Given the description of an element on the screen output the (x, y) to click on. 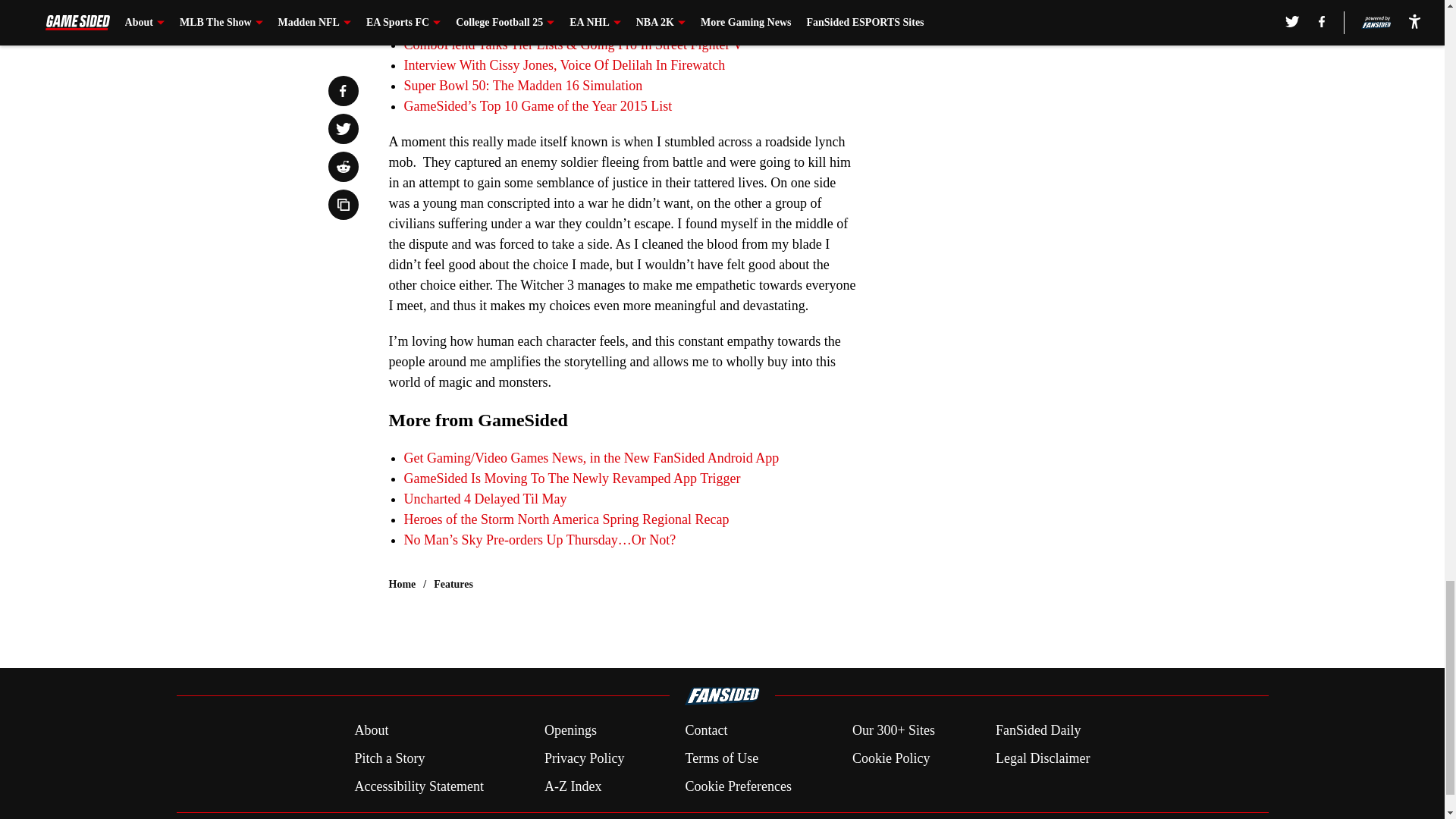
Home (401, 584)
GameSided Is Moving To The Newly Revamped App Trigger (571, 478)
Uncharted 4 Delayed Til May (484, 498)
Heroes of the Storm North America Spring Regional Recap (566, 519)
Super Bowl 50: The Madden 16 Simulation (522, 85)
About (370, 730)
Interview With Cissy Jones, Voice Of Delilah In Firewatch (564, 64)
Features (453, 584)
Openings (570, 730)
